Given the description of an element on the screen output the (x, y) to click on. 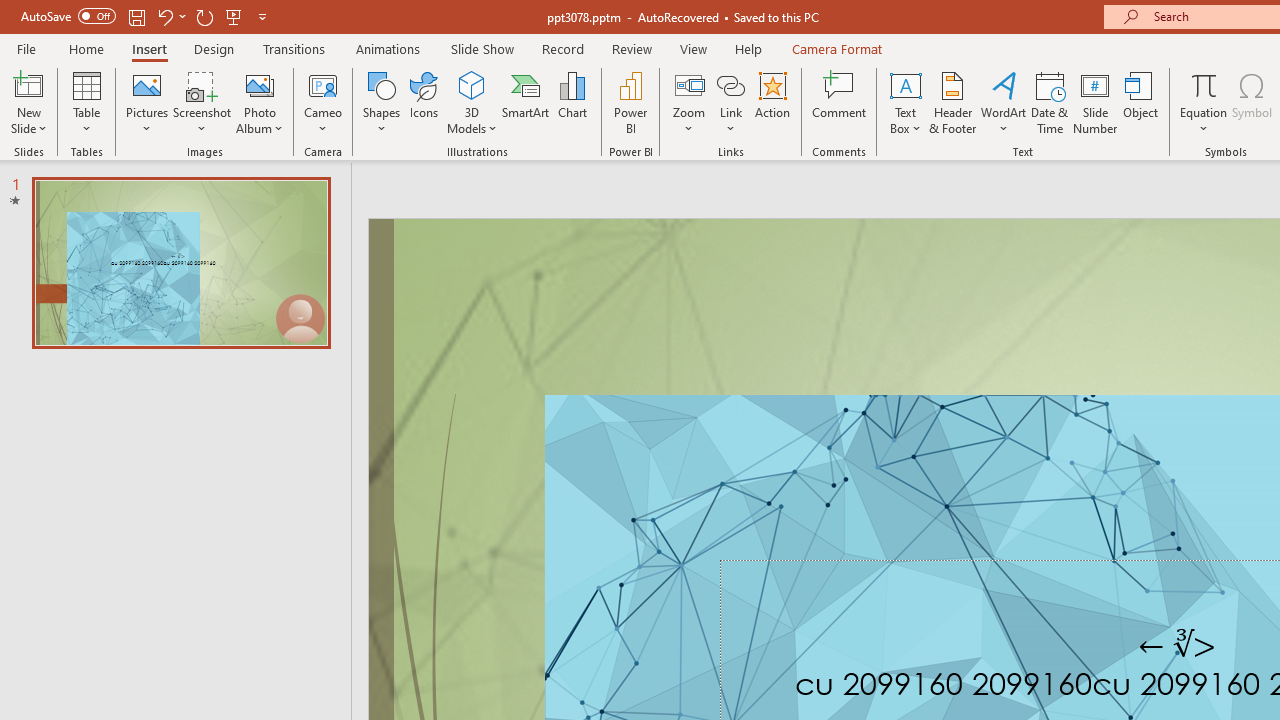
Chart... (572, 102)
Slide Number (1095, 102)
Link (731, 84)
Link (731, 102)
Object... (1141, 102)
Date & Time... (1050, 102)
Power BI (630, 102)
3D Models (472, 84)
